Given the description of an element on the screen output the (x, y) to click on. 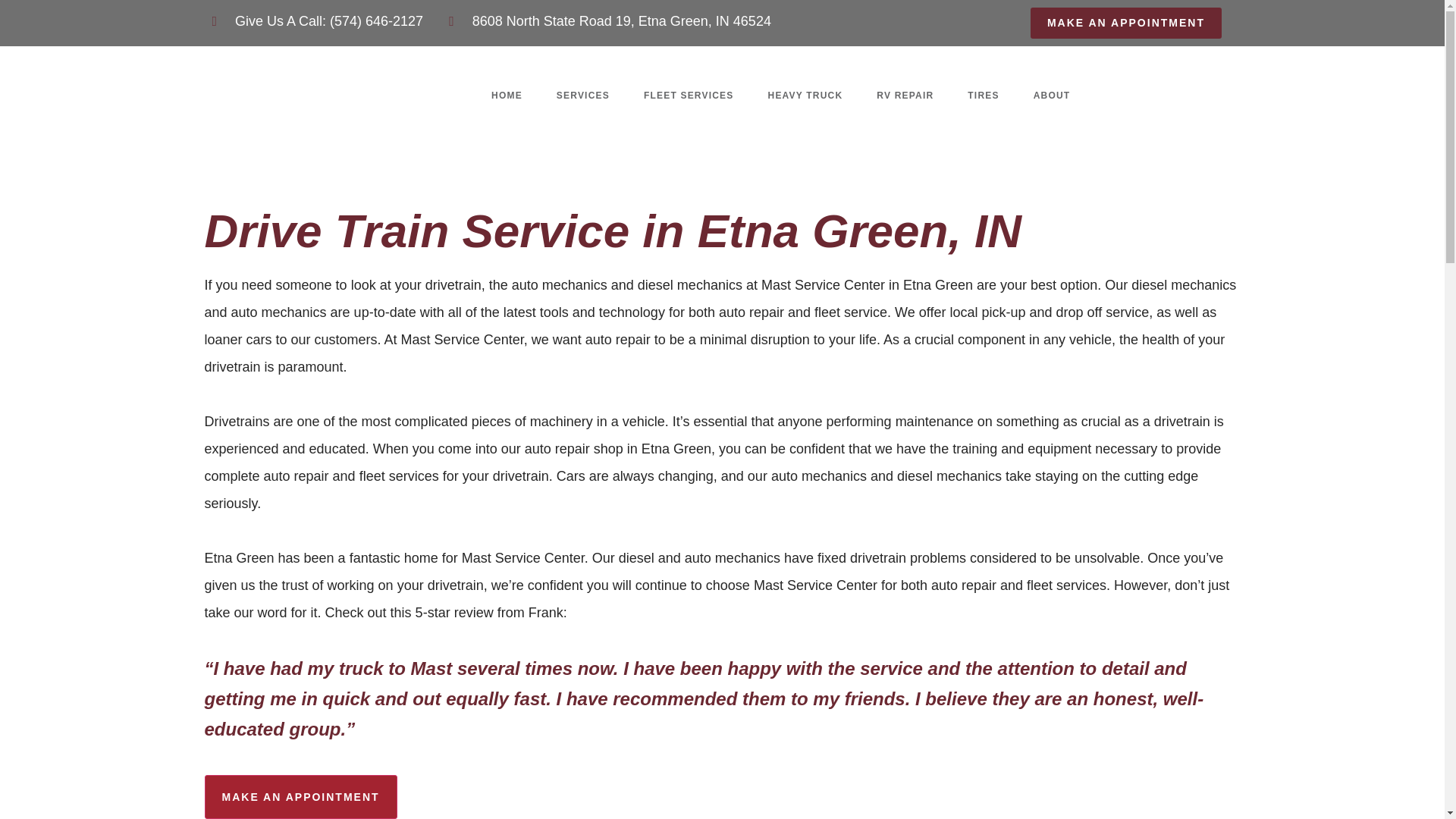
MAKE AN APPOINTMENT (1125, 22)
SERVICES (582, 95)
HOME (507, 95)
8608 North State Road 19, Etna Green, IN 46524 (609, 21)
